Given the description of an element on the screen output the (x, y) to click on. 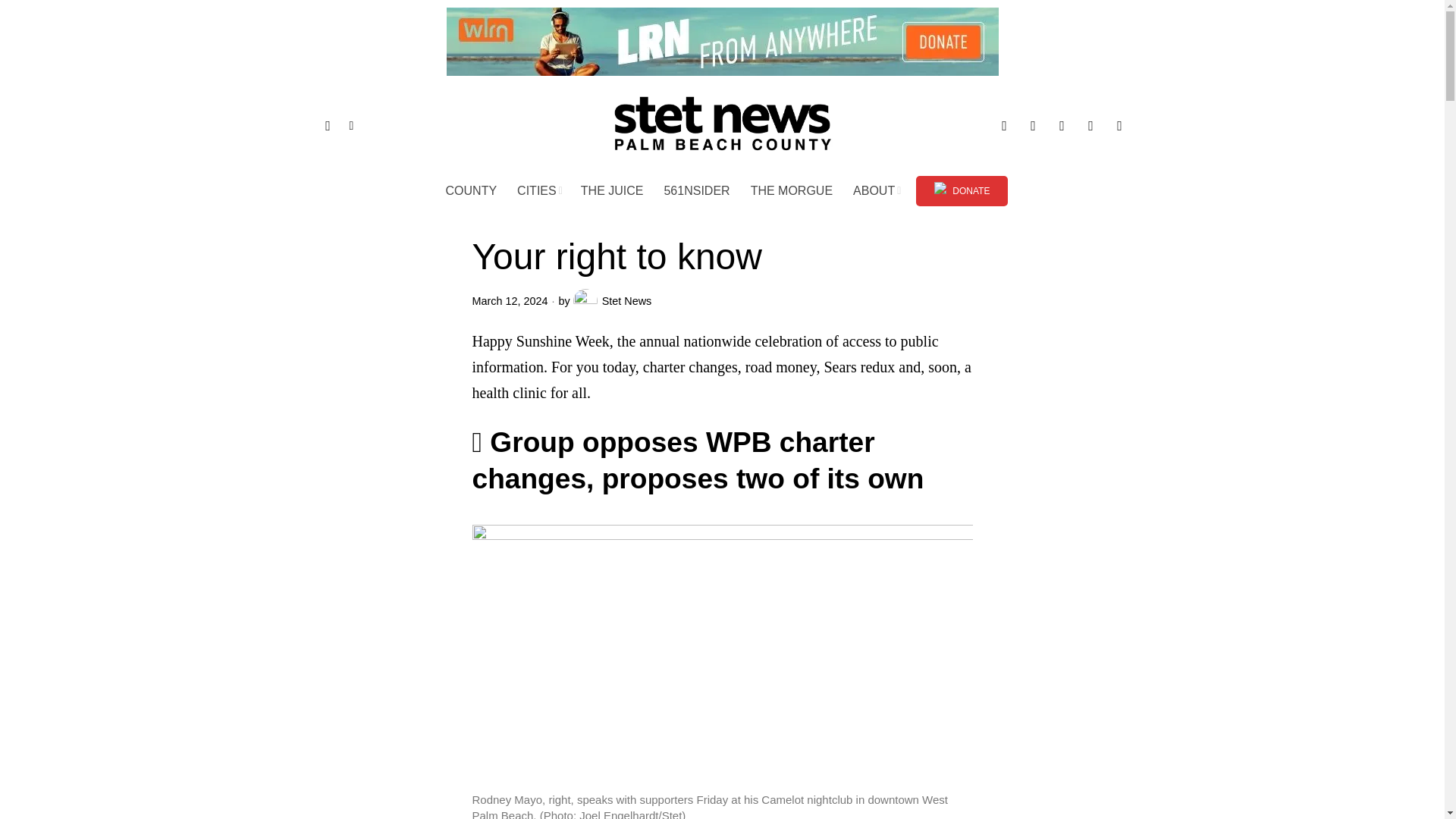
ABOUT (877, 191)
COUNTY (472, 191)
Stet News (612, 300)
561NSIDER (697, 191)
CITIES (540, 191)
THE MORGUE (792, 191)
DONATE (961, 191)
THE JUICE (613, 191)
12 Mar, 2024 11:57:00 (509, 300)
